Given the description of an element on the screen output the (x, y) to click on. 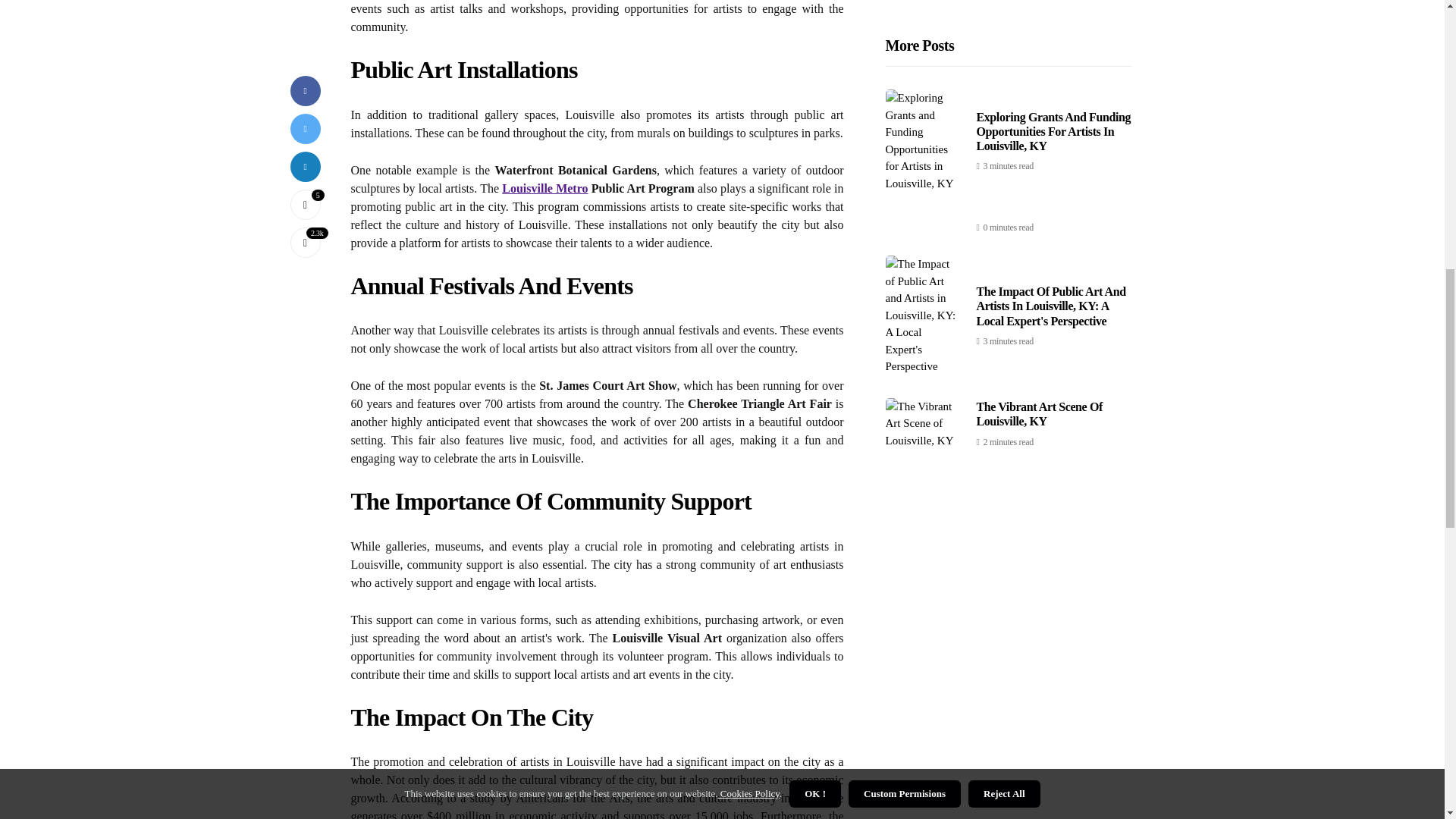
The Vibrant Art Scene Of Louisville, KY (1039, 89)
Louisville Metro (545, 187)
